Given the description of an element on the screen output the (x, y) to click on. 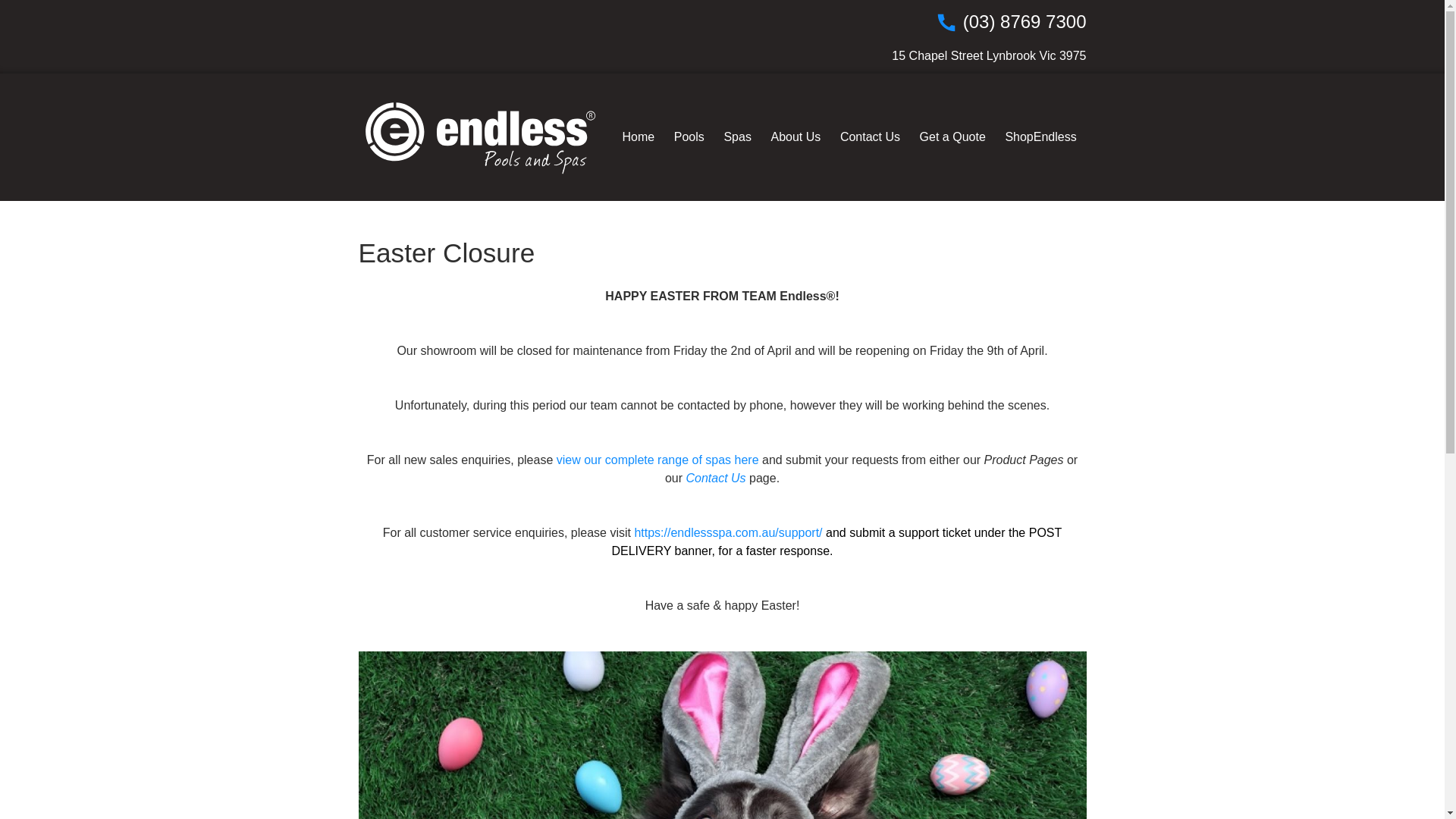
Contact Us Element type: text (870, 136)
Home Element type: text (638, 136)
About Us Element type: text (795, 136)
Return to homepage Element type: hover (478, 137)
Contact Us Element type: text (715, 477)
Spas Element type: text (737, 136)
view our complete range of spas here Element type: text (657, 459)
ShopEndless Element type: text (1040, 136)
https://endlessspa.com.au/support/ Element type: text (729, 532)
Get a Quote Element type: text (952, 136)
Pools Element type: text (689, 136)
